Given the description of an element on the screen output the (x, y) to click on. 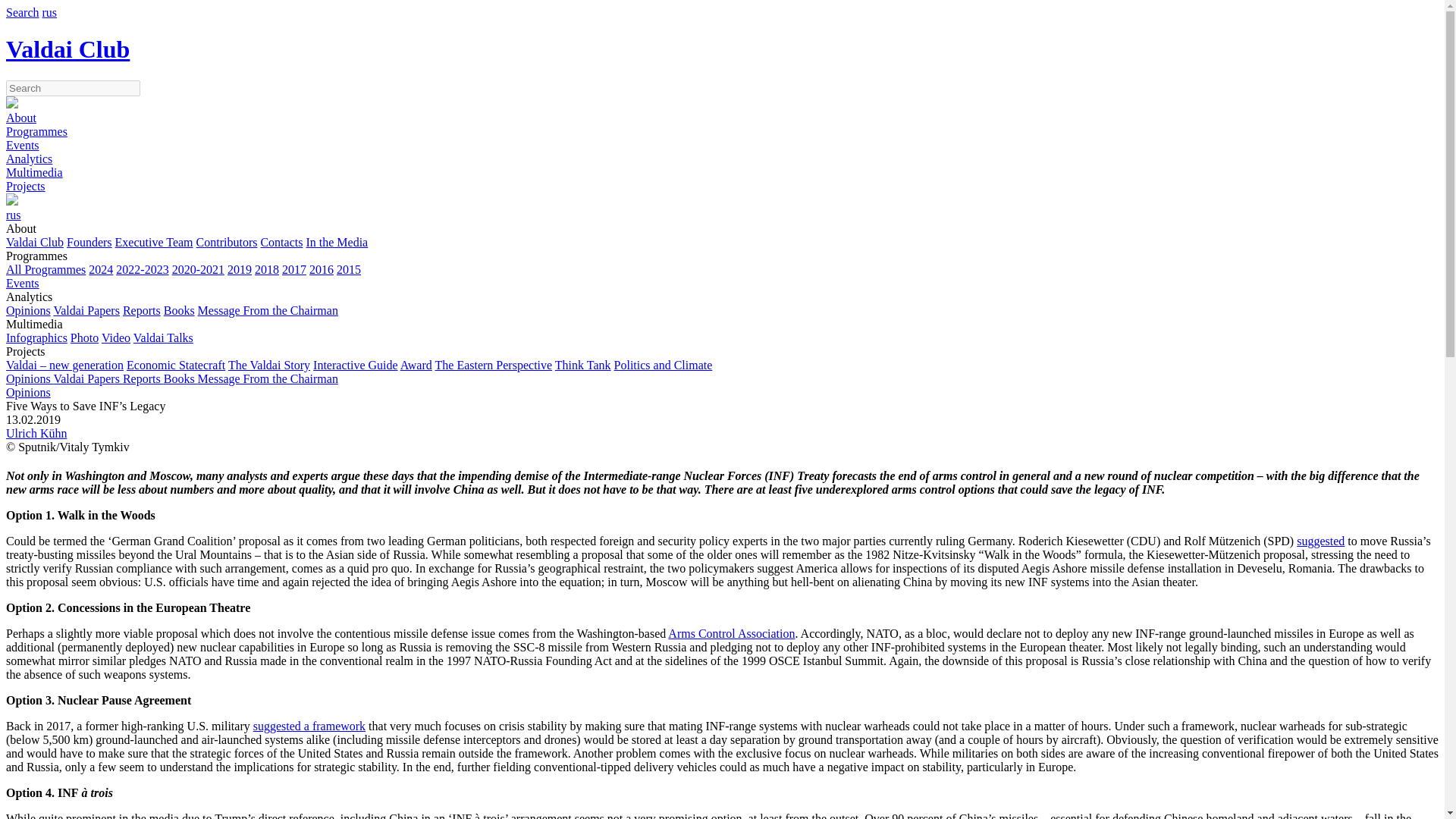
In the Media (336, 241)
2015 (348, 269)
Contacts (281, 241)
Executive Team (154, 241)
Opinions (27, 309)
2016 (320, 269)
rus (50, 11)
Books (179, 309)
Reports (141, 309)
Valdai Papers (85, 309)
Founders (89, 241)
Search (22, 11)
Valdai Club (34, 241)
2024 (100, 269)
2017 (293, 269)
